Given the description of an element on the screen output the (x, y) to click on. 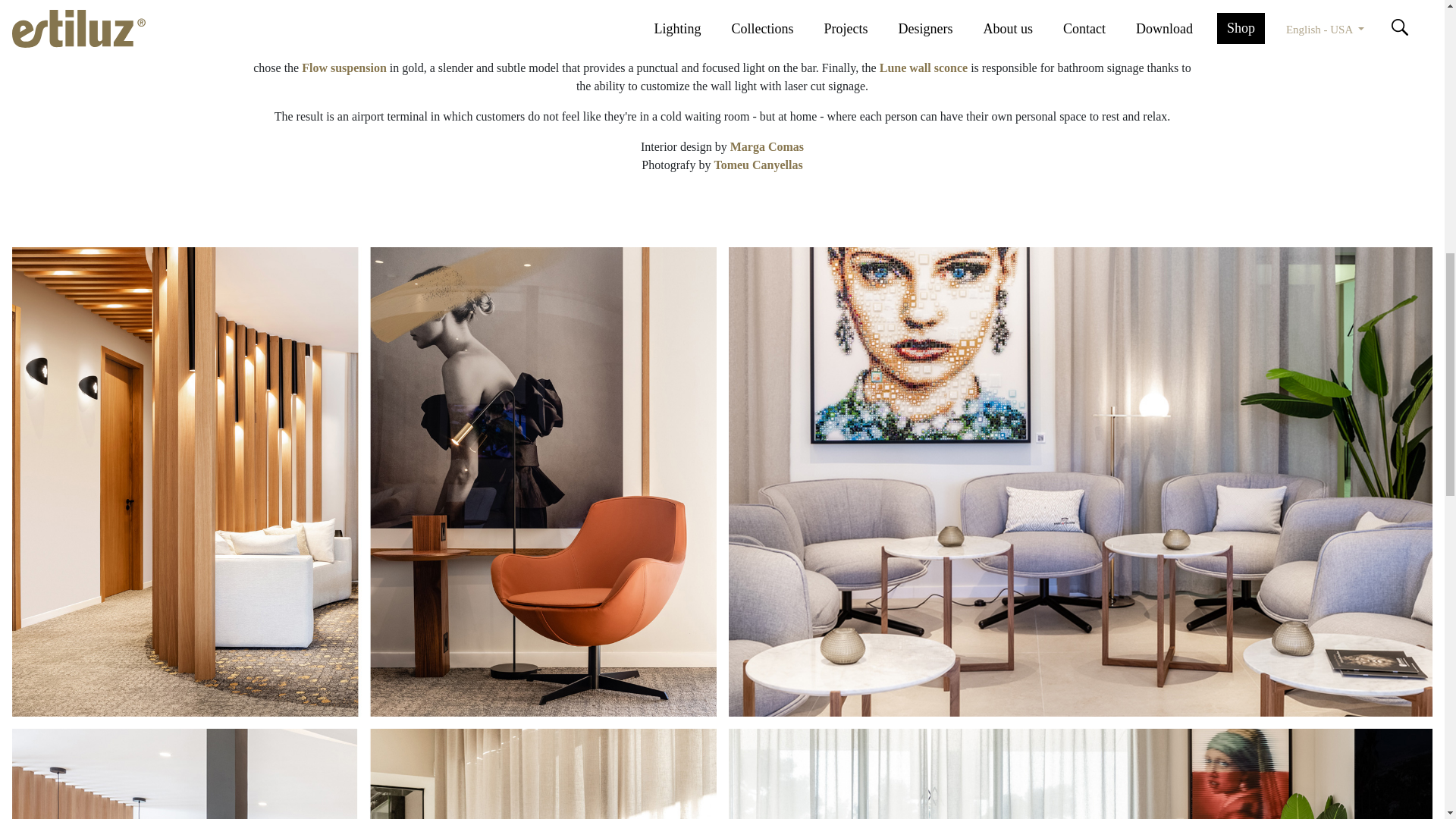
Lune wall sconce (923, 67)
Circ floor lamp (635, 49)
Volta - Floor lamp - Estiluz (798, 49)
Flow suspension (344, 67)
Marga Comas (766, 146)
Circ - Floor lamp - Estiluz (635, 49)
Lune - wall light - Estiluz (923, 67)
Volta suspension (517, 31)
Volta - Suspension lamp - Estiluz (517, 31)
Flow - pendant - Estiluz (344, 67)
